Given the description of an element on the screen output the (x, y) to click on. 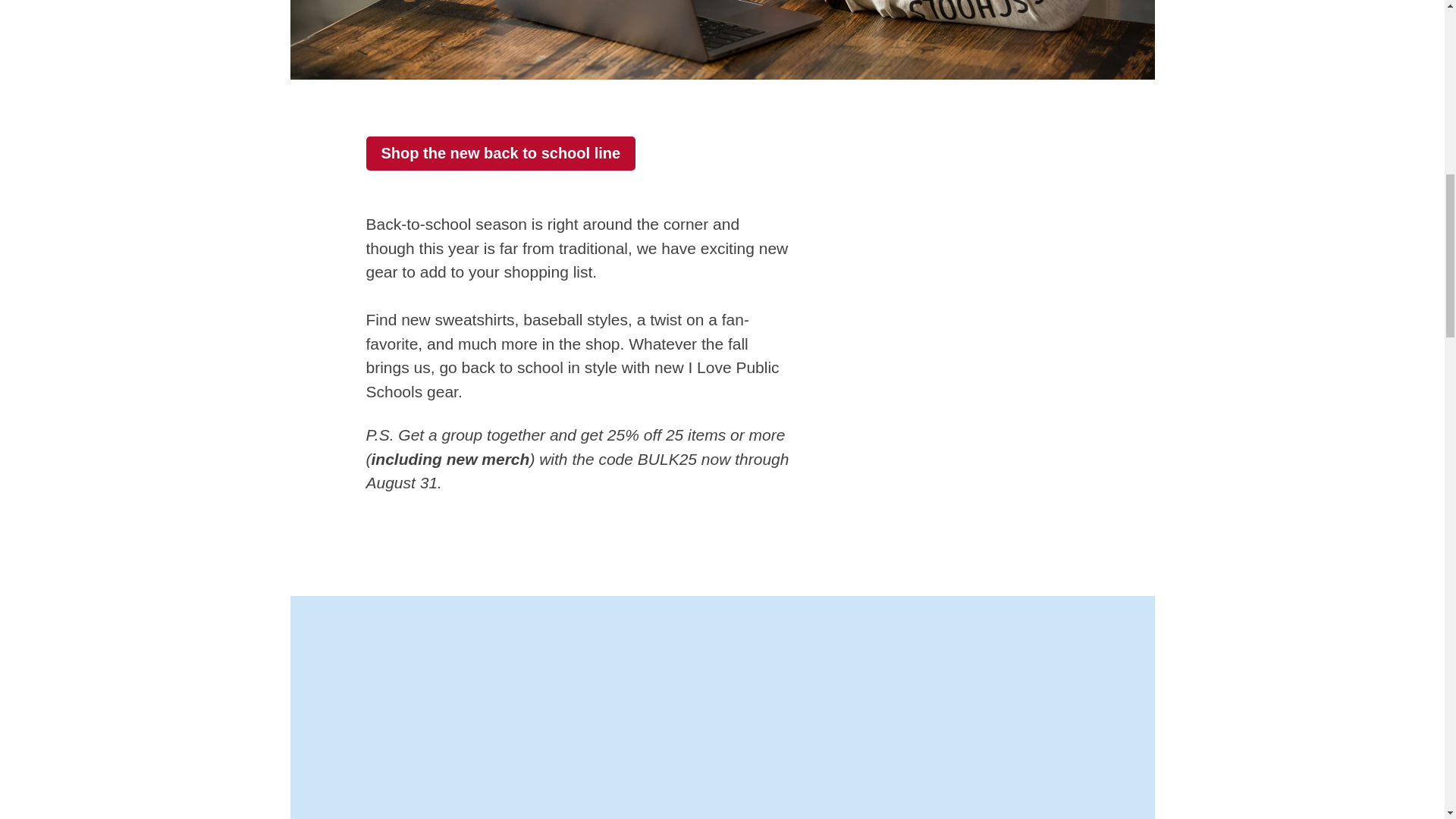
Shop the new back to school line (499, 153)
